Given the description of an element on the screen output the (x, y) to click on. 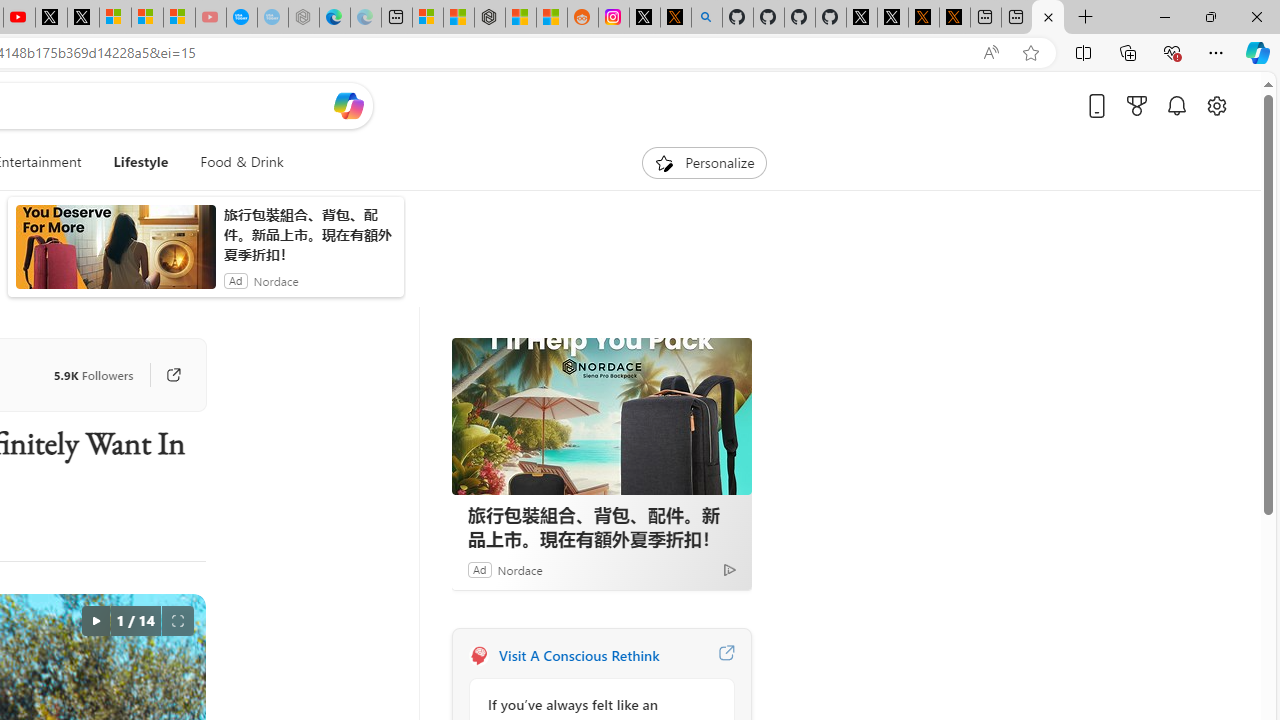
Log in to X / X (613, 17)
tab-1 (500, 579)
Gloom - YouTube - Sleeping (179, 17)
Real Estate (291, 265)
Mostly sunny (504, 368)
Travel (95, 265)
Check more alert details (616, 547)
Class: weather-arrow-glyph (746, 367)
